Given the description of an element on the screen output the (x, y) to click on. 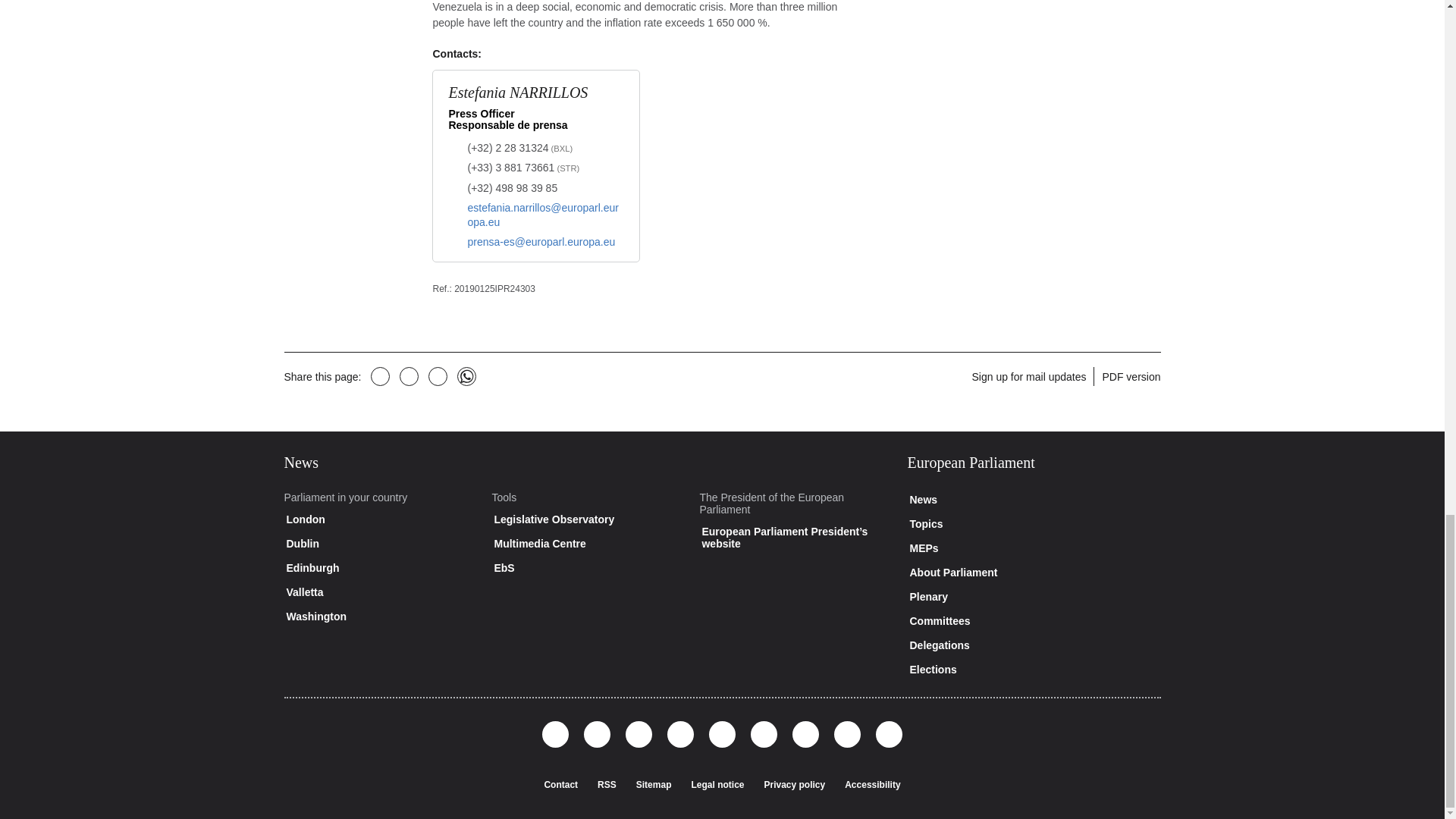
Strasbourg (566, 167)
Phone number (523, 168)
Product reference (441, 288)
Phone number (519, 148)
Brussels (560, 148)
Mobile number (512, 188)
